Given the description of an element on the screen output the (x, y) to click on. 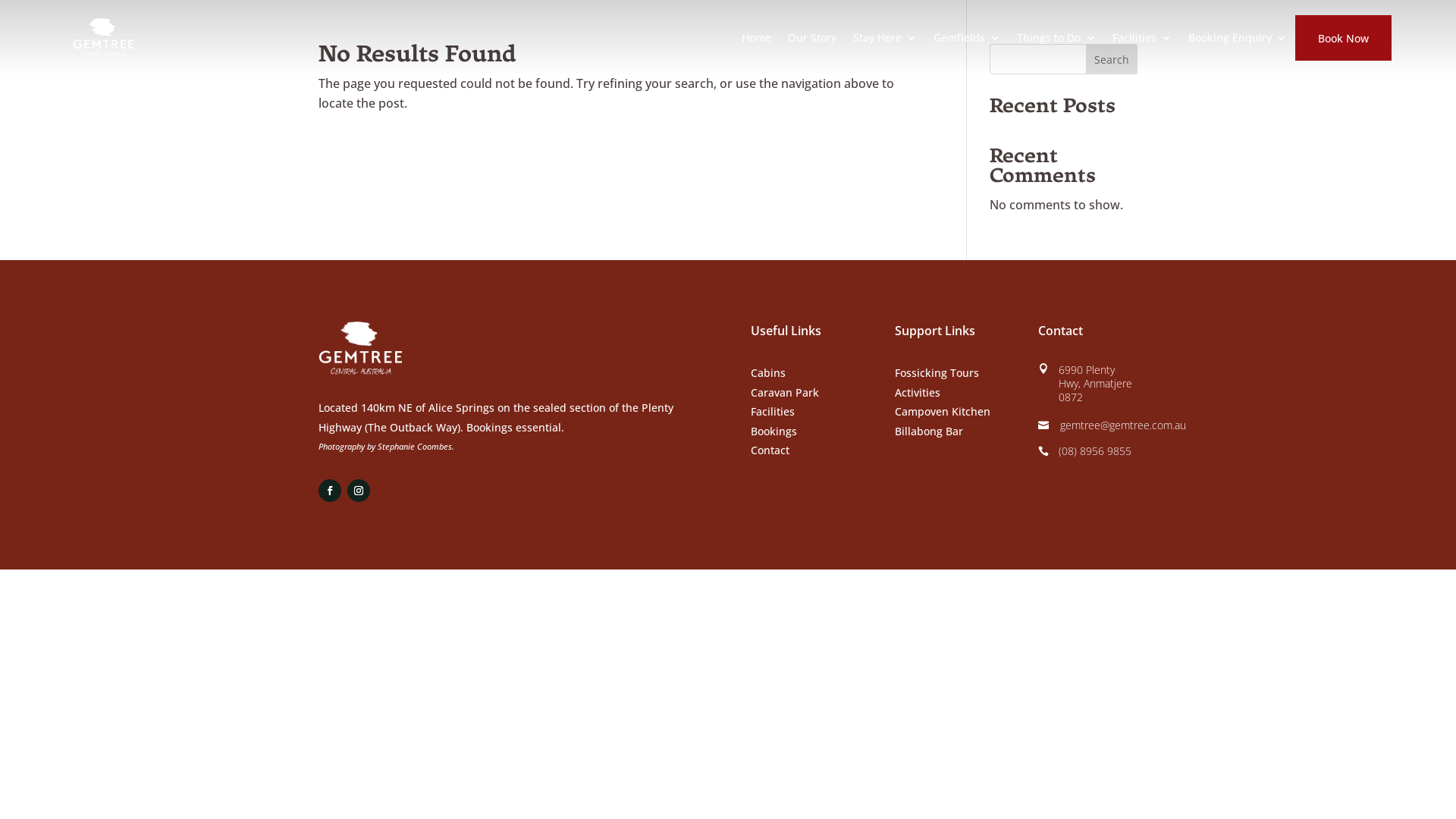
Booking Enquiry Element type: text (1237, 37)
Facilities Element type: text (772, 411)
Campoven Kitchen Element type: text (942, 411)
Activities Element type: text (917, 392)
Fossicking Tours Element type: text (936, 372)
(08) 8956 9855 Element type: text (1094, 450)
Things to Do Element type: text (1055, 37)
Facilities Element type: text (1141, 37)
Follow on Instagram Element type: hover (358, 490)
GT-logo Element type: hover (359, 348)
Contact Element type: text (769, 449)
Stay Here Element type: text (884, 37)
6990 Plenty Hwy, Anmatjere 0872 Element type: text (1095, 383)
Caravan Park Element type: text (784, 392)
Home Element type: text (756, 37)
Our Story Element type: text (811, 37)
Follow on Facebook Element type: hover (329, 490)
Book Now Element type: text (1342, 38)
Cabins Element type: text (767, 372)
gemtree@gemtree.com.au Element type: text (1123, 424)
Bookings Element type: text (773, 430)
Search Element type: text (1111, 58)
Gemfields Element type: text (966, 37)
Billabong Bar Element type: text (928, 430)
